Given the description of an element on the screen output the (x, y) to click on. 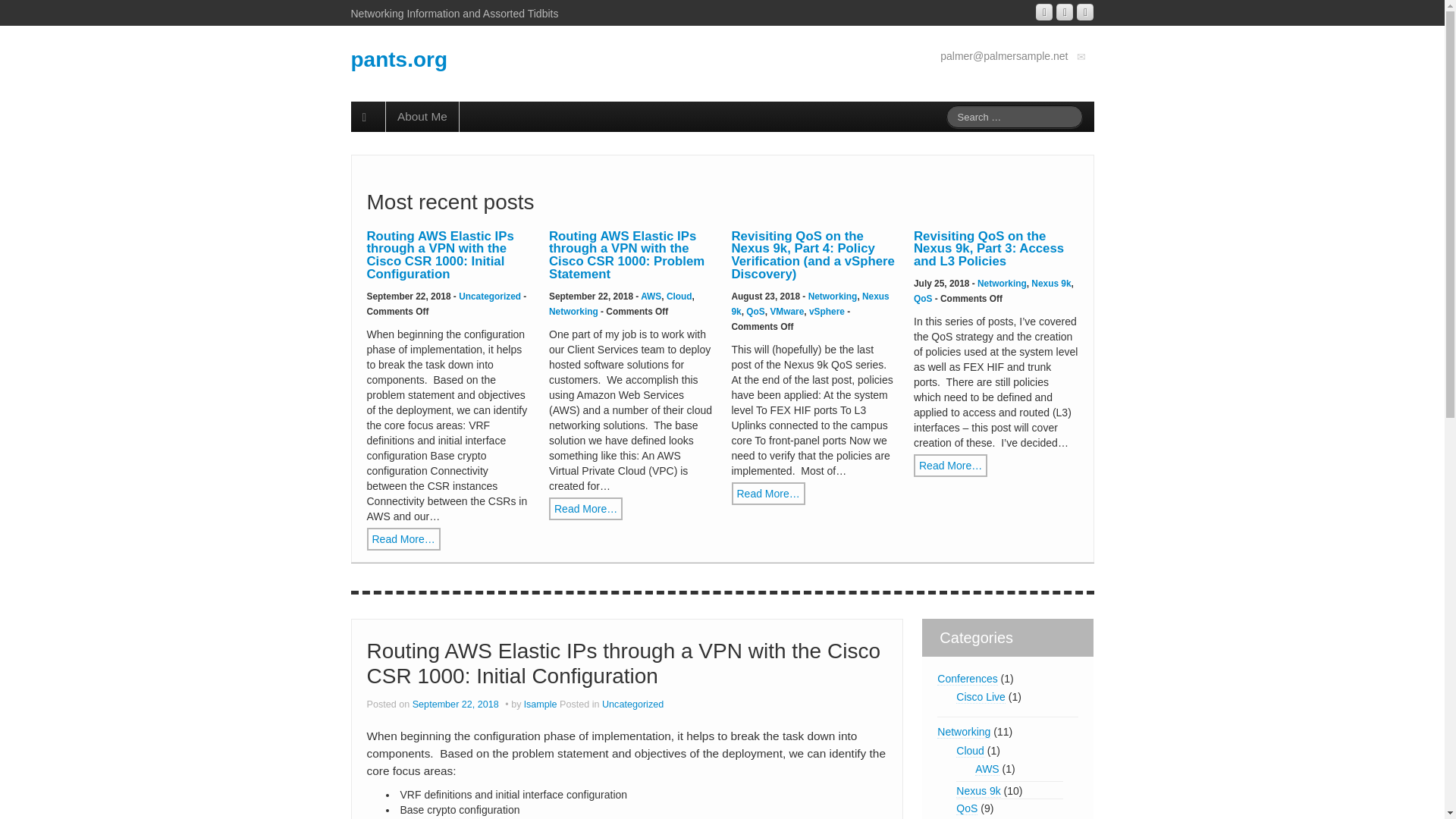
12:41 (457, 704)
VMware (786, 311)
pants.org Linkedin (1065, 12)
pants.org (398, 59)
Uncategorized (489, 296)
Networking (963, 731)
About Me (421, 116)
AWS (986, 768)
Networking (832, 296)
Cloud (679, 296)
Networking (1001, 283)
Nexus 9k (978, 790)
September 22, 2018 (457, 704)
Nexus 9k (809, 303)
Uncategorized (632, 704)
